Given the description of an element on the screen output the (x, y) to click on. 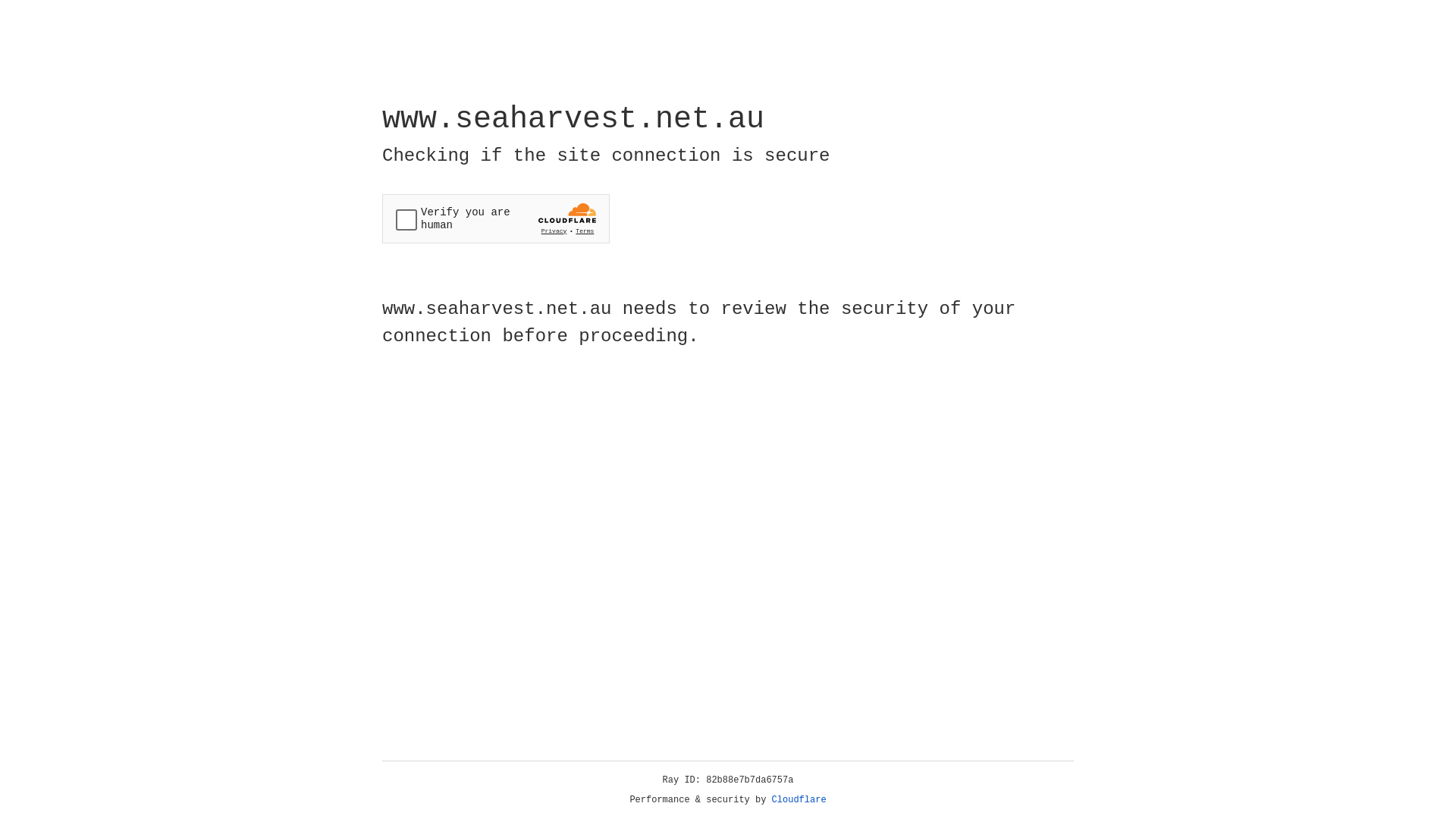
Widget containing a Cloudflare security challenge Element type: hover (495, 218)
Cloudflare Element type: text (798, 799)
